Given the description of an element on the screen output the (x, y) to click on. 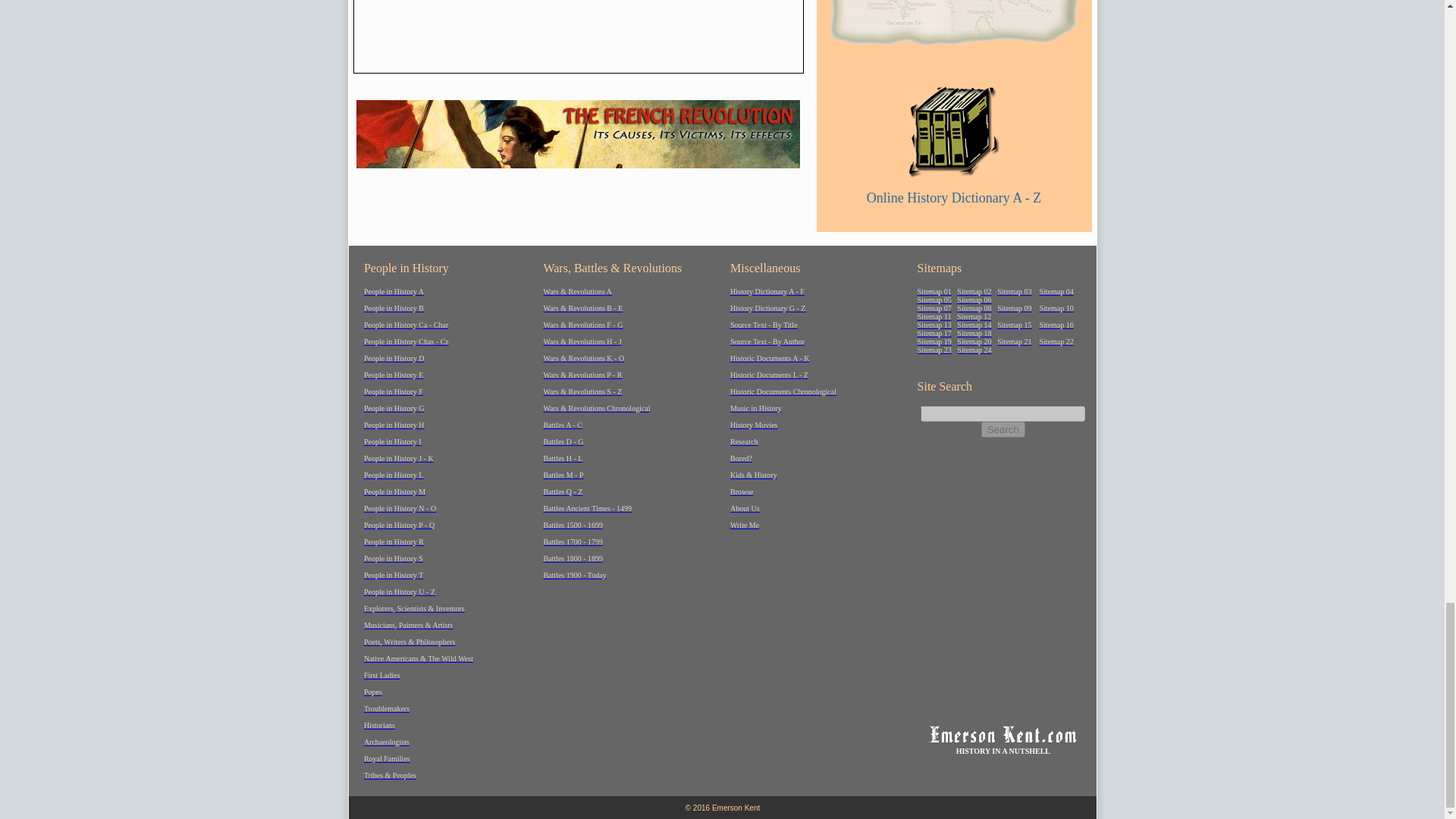
Search (1003, 429)
